Given the description of an element on the screen output the (x, y) to click on. 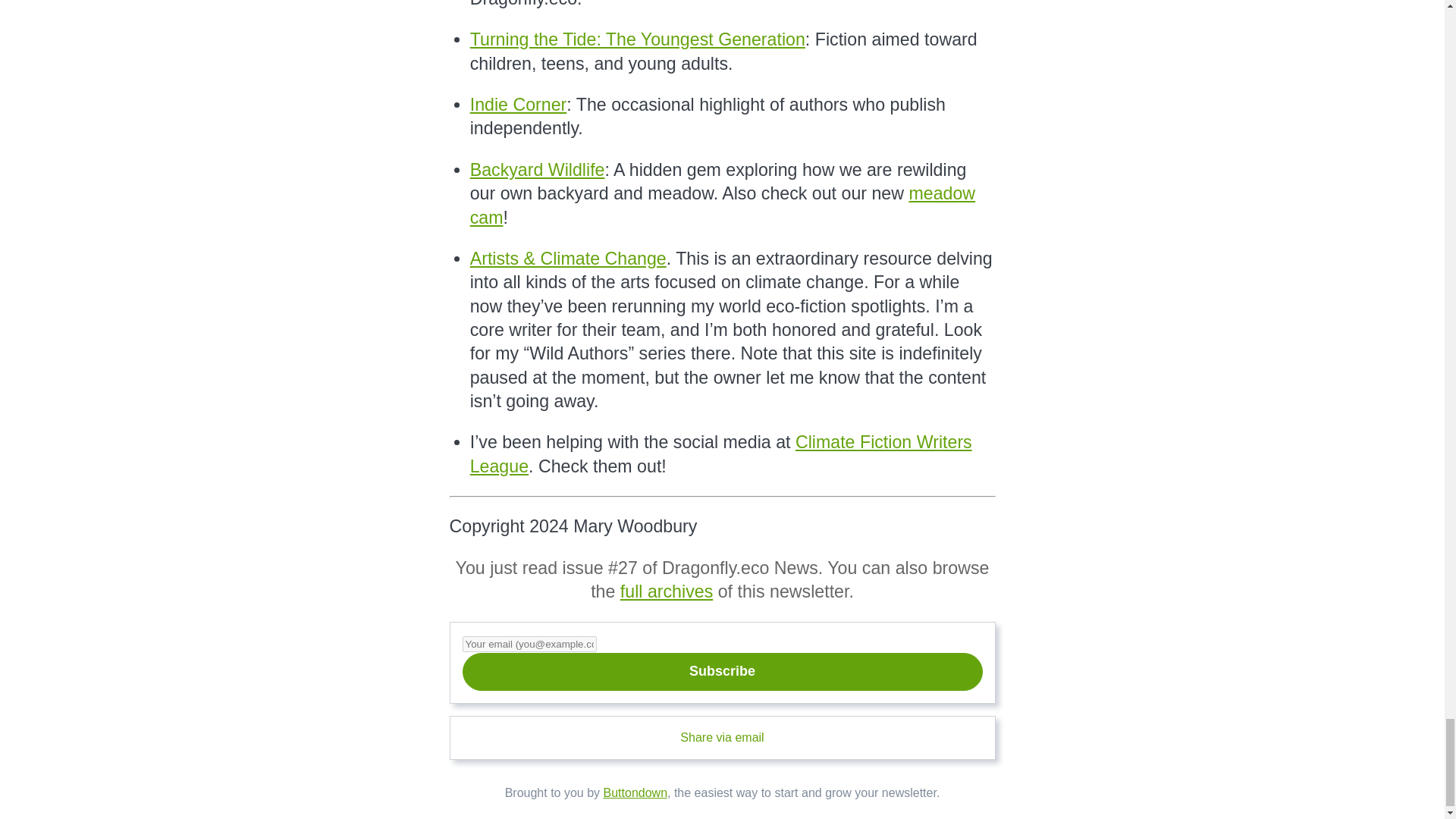
Turning the Tide: The Youngest Generation (637, 39)
